Given the description of an element on the screen output the (x, y) to click on. 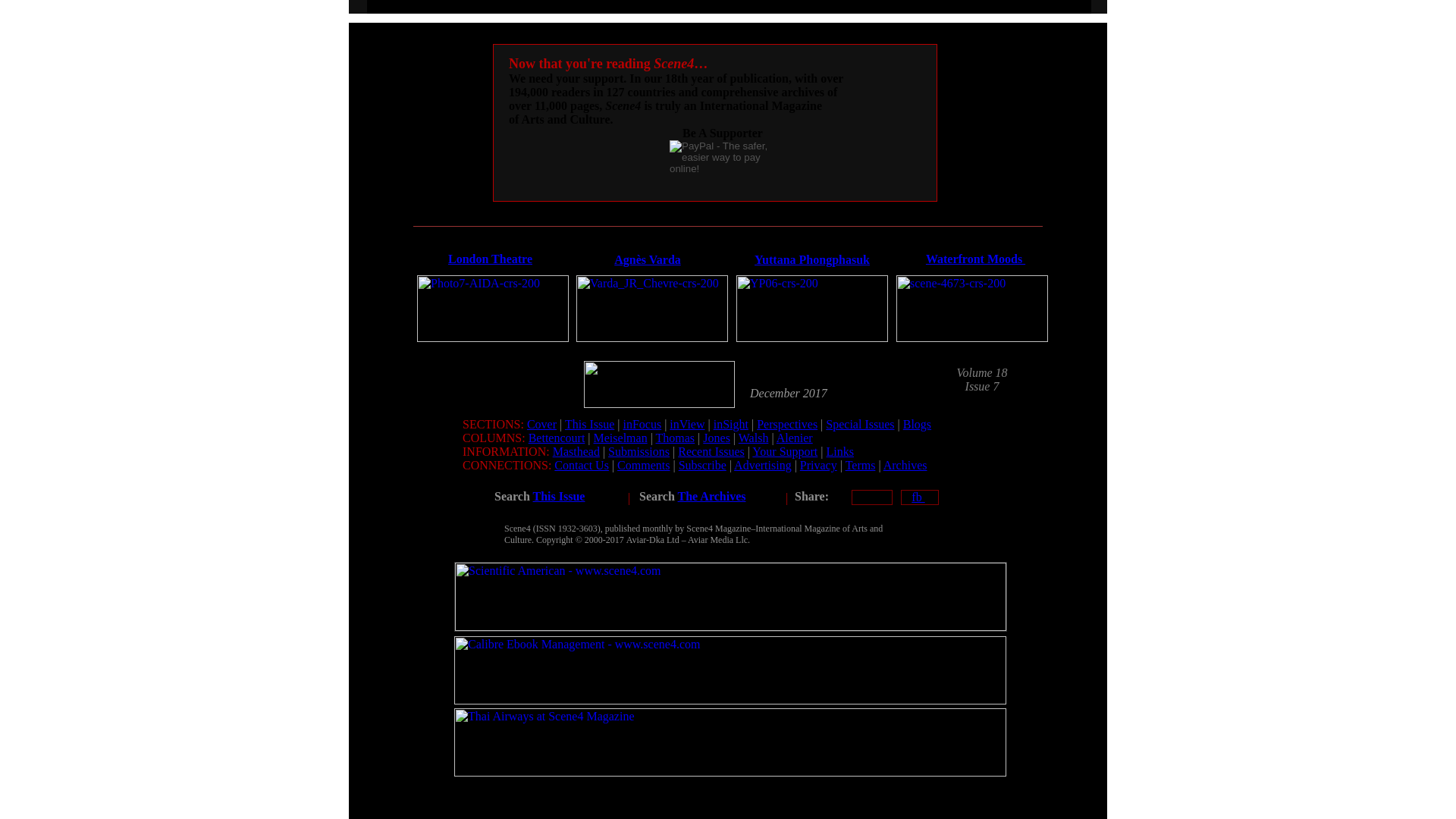
Waterfront Moods  (975, 258)
Privacy (818, 464)
Bettencourt (556, 437)
Walsh (753, 437)
Jones (716, 437)
Subscribe (702, 464)
Sc4-solo--logo62h (659, 384)
Alenier (794, 437)
Scientific American - www.scene4.com (730, 596)
Thomas (675, 437)
Perspectives (786, 423)
scene-4673-crs-200 (972, 308)
Links (840, 451)
This Issue (589, 423)
Contact Us (581, 464)
